Given the description of an element on the screen output the (x, y) to click on. 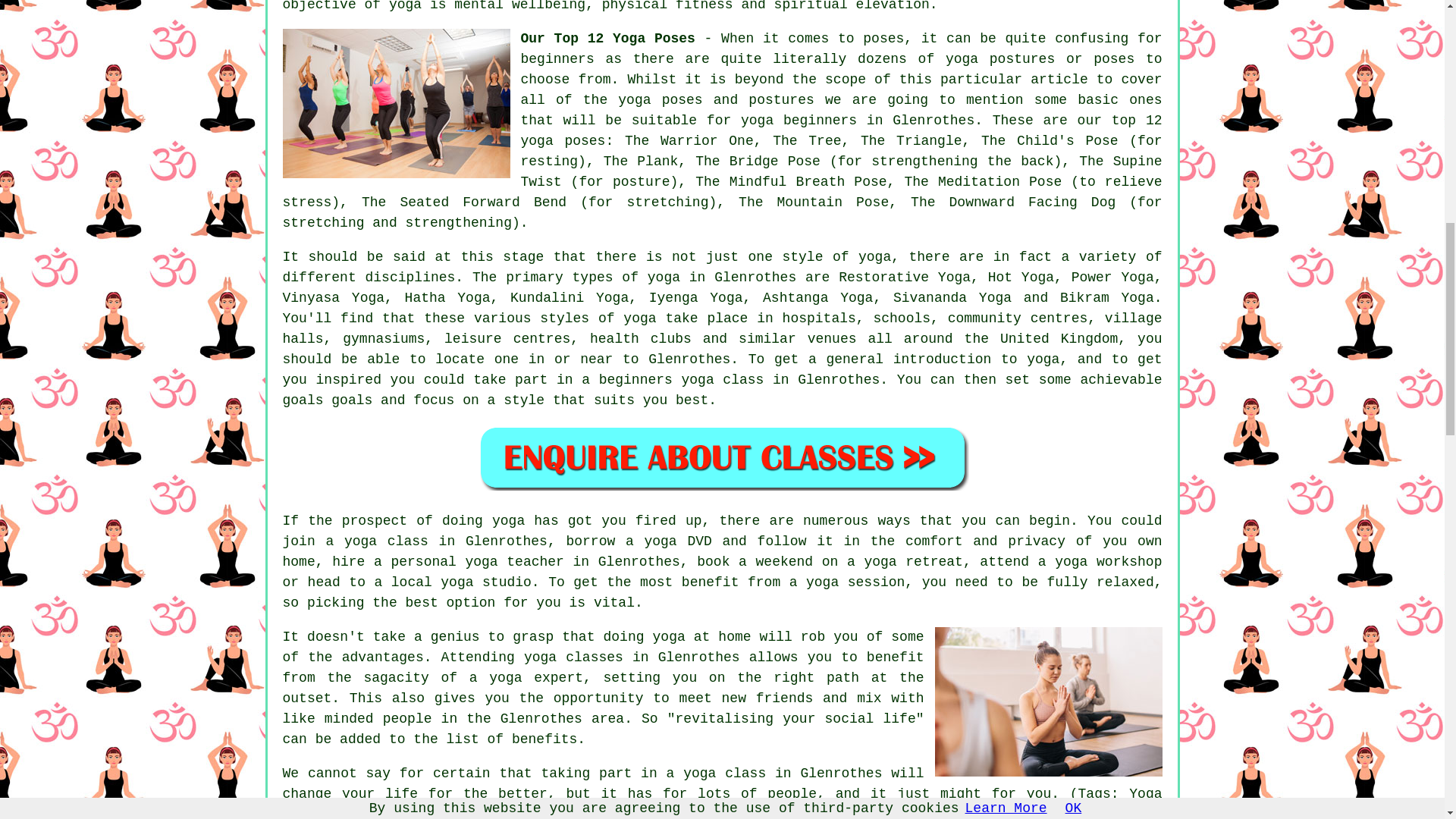
beginners yoga class (681, 379)
The Mountain Pose (813, 201)
yoga beginners (799, 120)
leisure centres (507, 338)
Bikram Yoga (1106, 297)
a yoga class in Glenrothes (774, 773)
yoga workshop (1107, 561)
